Given the description of an element on the screen output the (x, y) to click on. 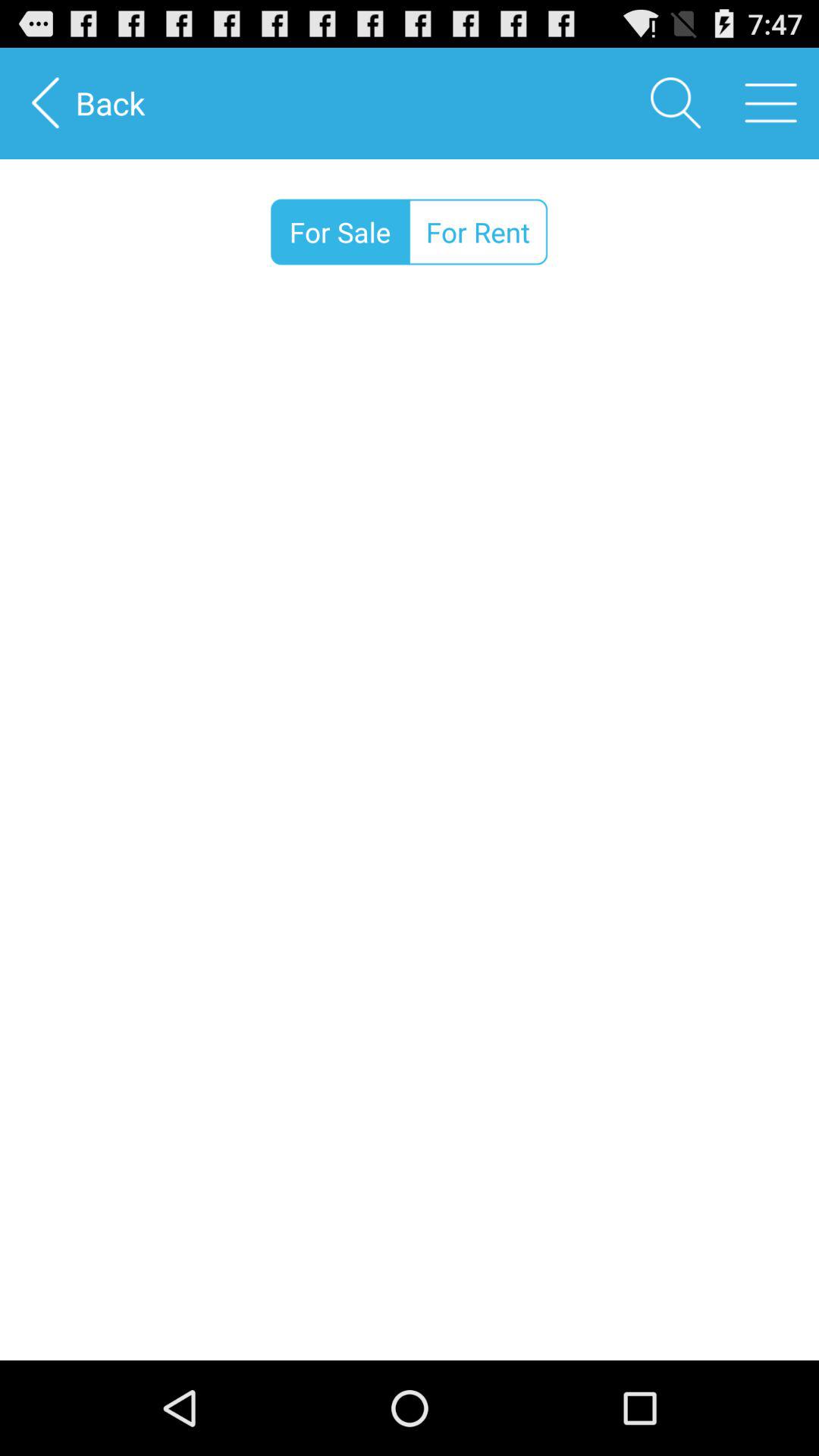
turn off icon to the left of for rent icon (340, 232)
